Given the description of an element on the screen output the (x, y) to click on. 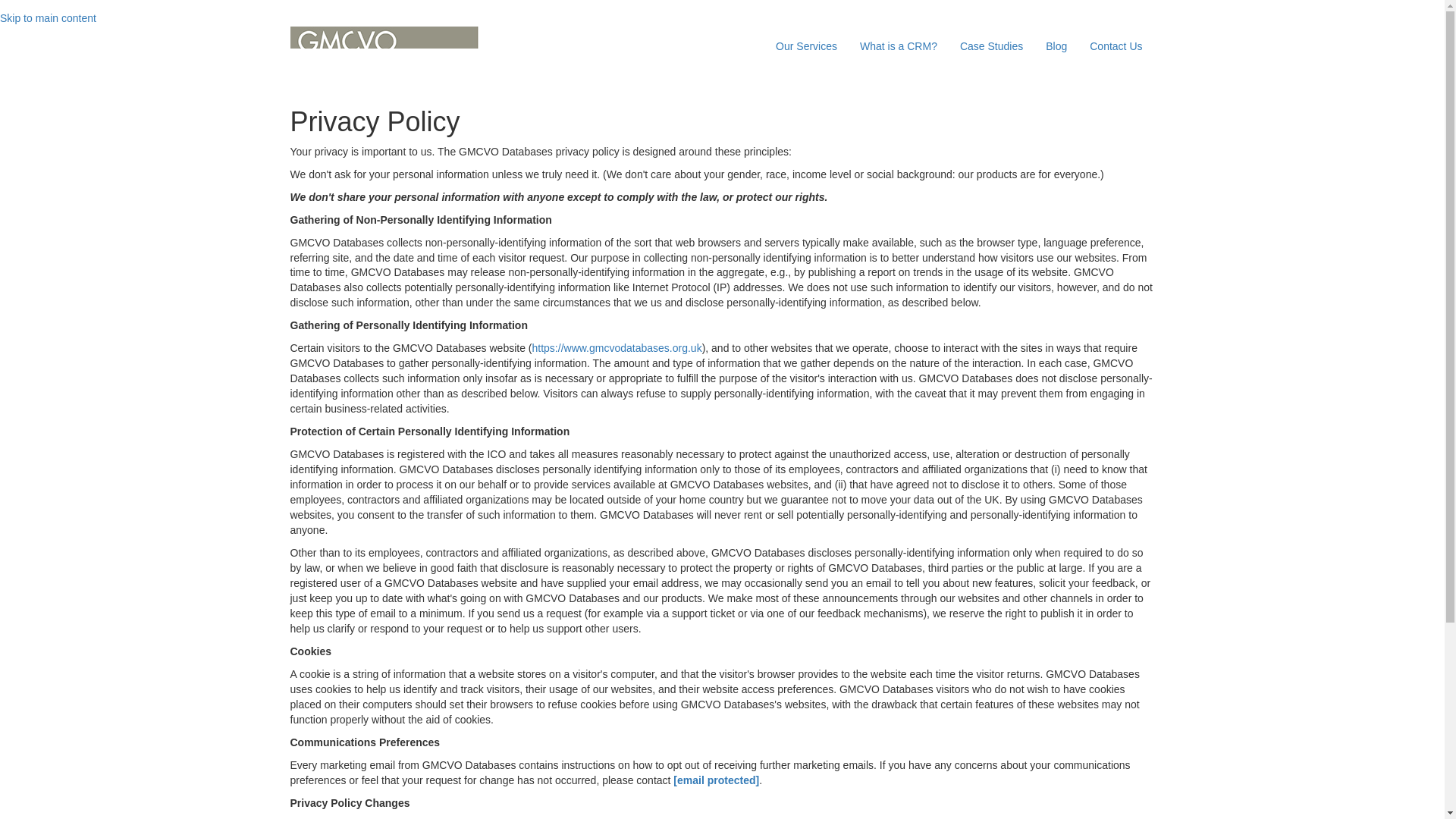
Blog (1055, 46)
What is a CRM? (898, 46)
Contact Us (1115, 46)
Skip to main content (48, 18)
Our Services (806, 46)
Case Studies (991, 46)
